Given the description of an element on the screen output the (x, y) to click on. 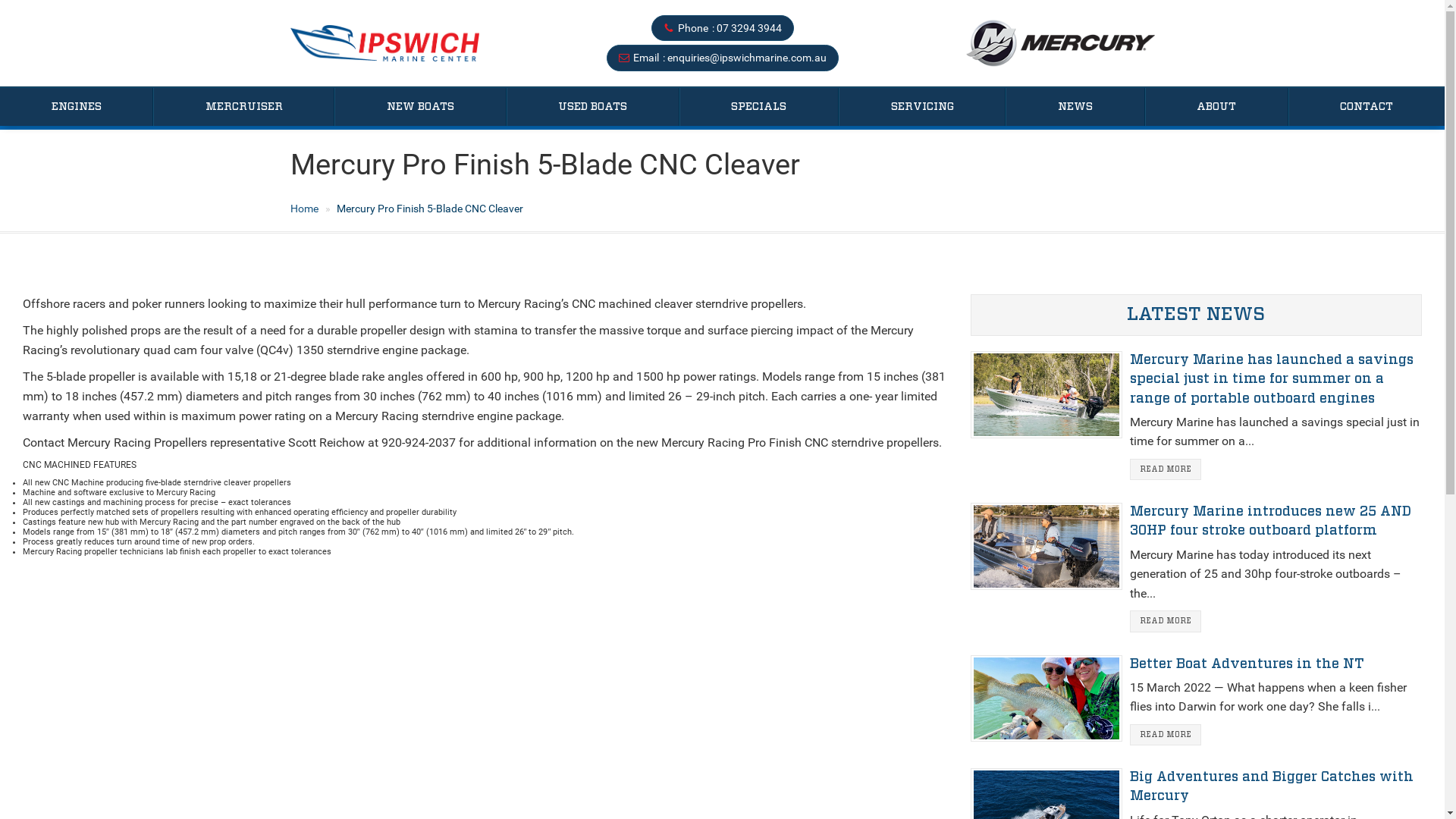
CONTACT Element type: text (1366, 106)
READ MORE Element type: text (1165, 620)
SPECIALS Element type: text (758, 106)
07 3294 3944 Element type: text (748, 27)
Home Element type: text (303, 208)
Better Boat Adventures in the NT Element type: text (1246, 664)
USED BOATS Element type: text (592, 106)
... Element type: hover (383, 43)
READ MORE Element type: text (1165, 734)
MERCRUISER Element type: text (243, 106)
ABOUT Element type: text (1216, 106)
ENGINES Element type: text (76, 106)
READ MORE Element type: text (1165, 469)
NEWS Element type: text (1074, 106)
SERVICING Element type: text (921, 106)
NEW BOATS Element type: text (420, 106)
enquiries@ipswichmarine.com.au Element type: text (746, 57)
Big Adventures and Bigger Catches with Mercury Element type: text (1271, 786)
